Given the description of an element on the screen output the (x, y) to click on. 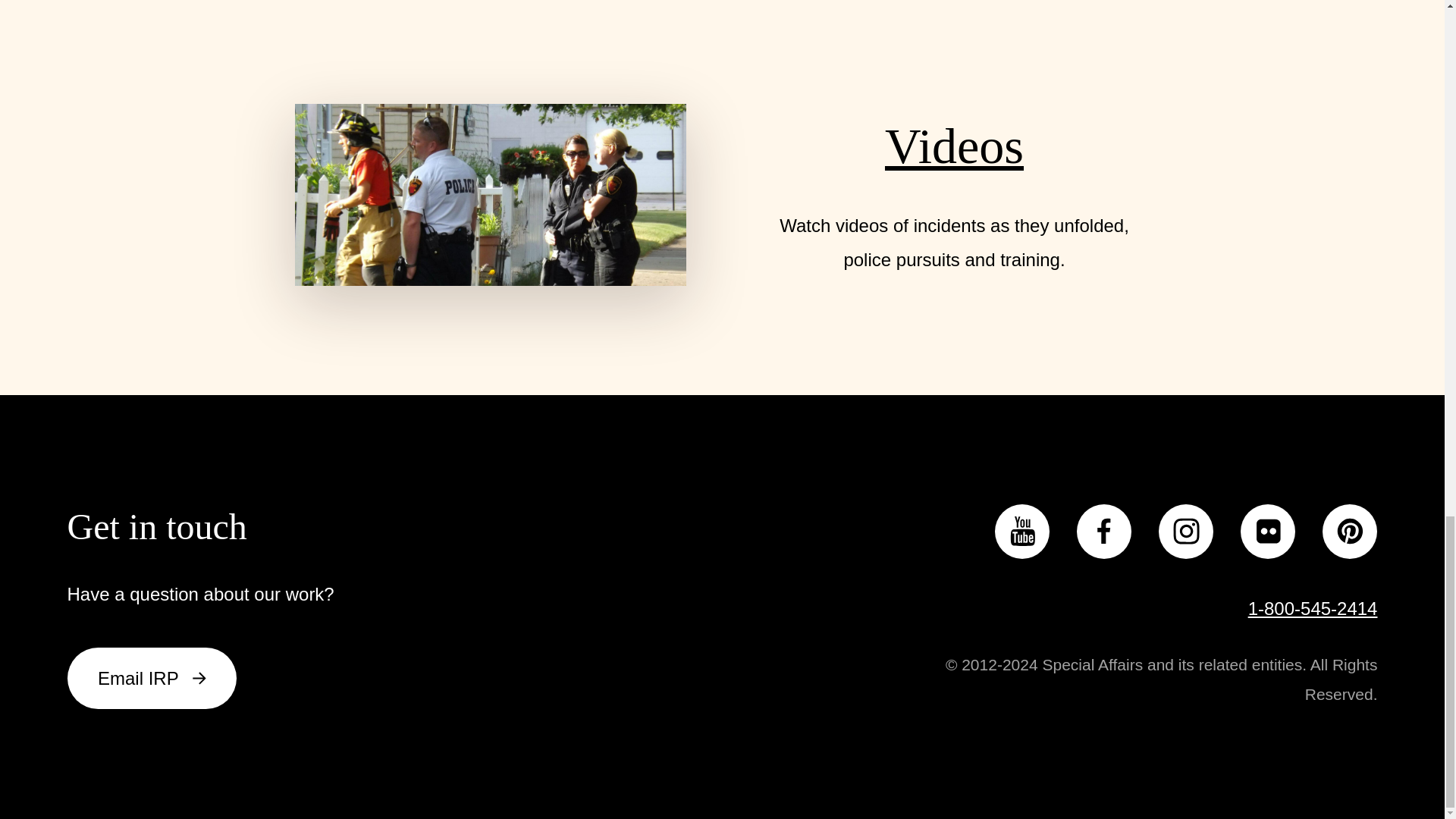
Email IRP (150, 678)
1-800-545-2414 (1312, 608)
Videos (954, 145)
